Given the description of an element on the screen output the (x, y) to click on. 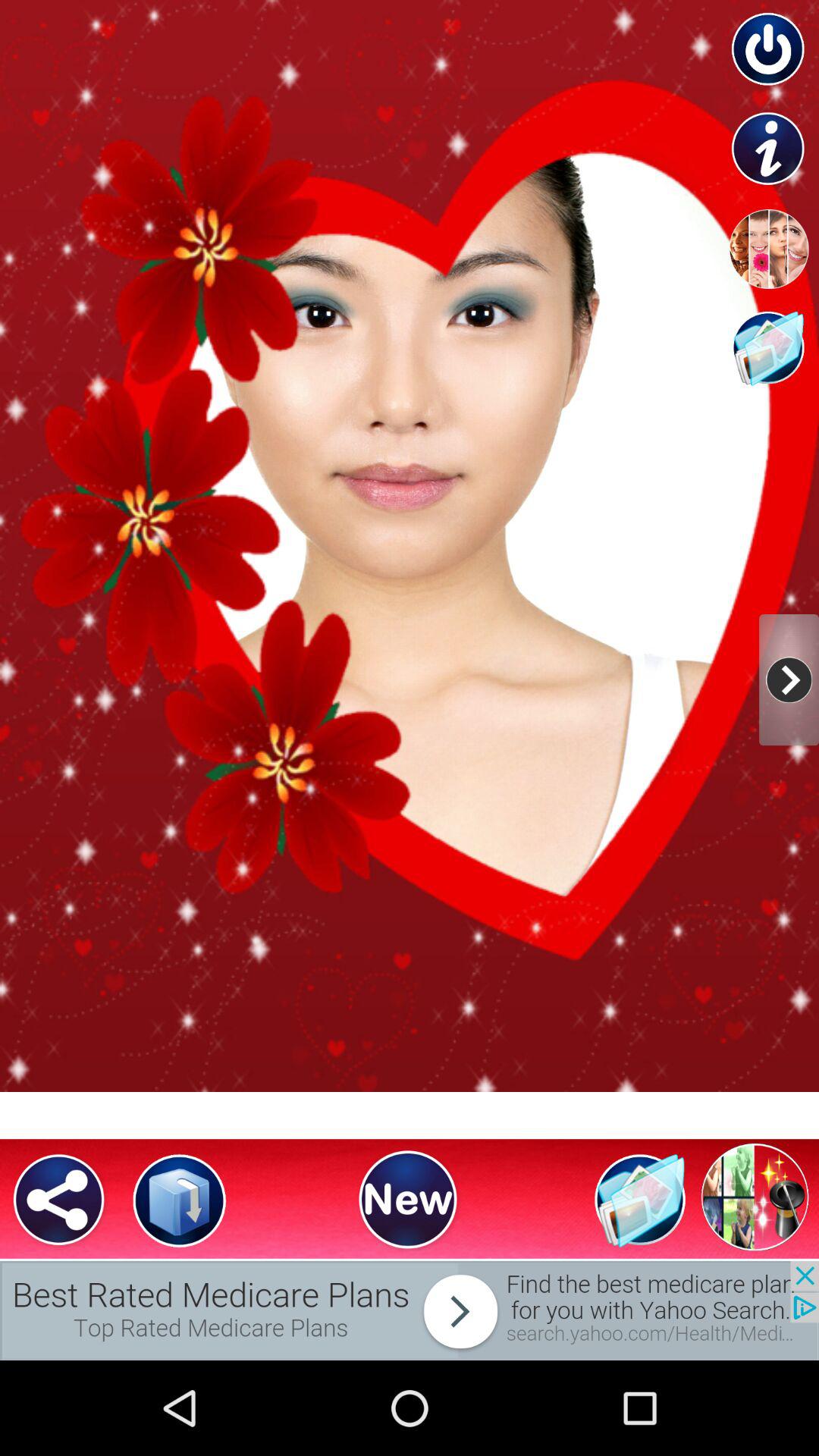
advertisements place (409, 1310)
